Given the description of an element on the screen output the (x, y) to click on. 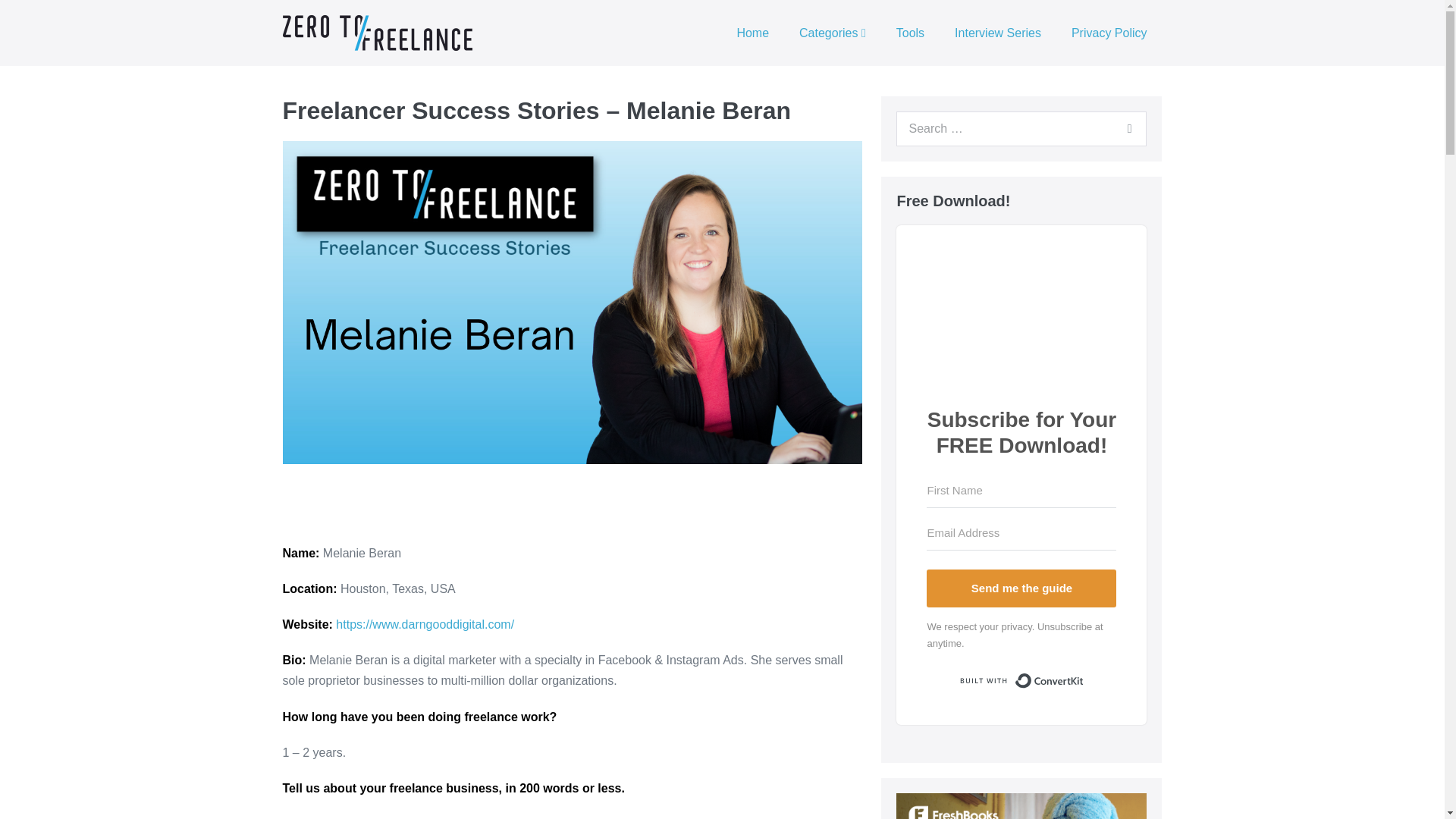
Press enter to search (1021, 128)
Privacy Policy (1109, 32)
Interview Series (998, 32)
Tools (909, 32)
Home (752, 32)
Categories (832, 32)
Zero to Freelance (376, 32)
